Given the description of an element on the screen output the (x, y) to click on. 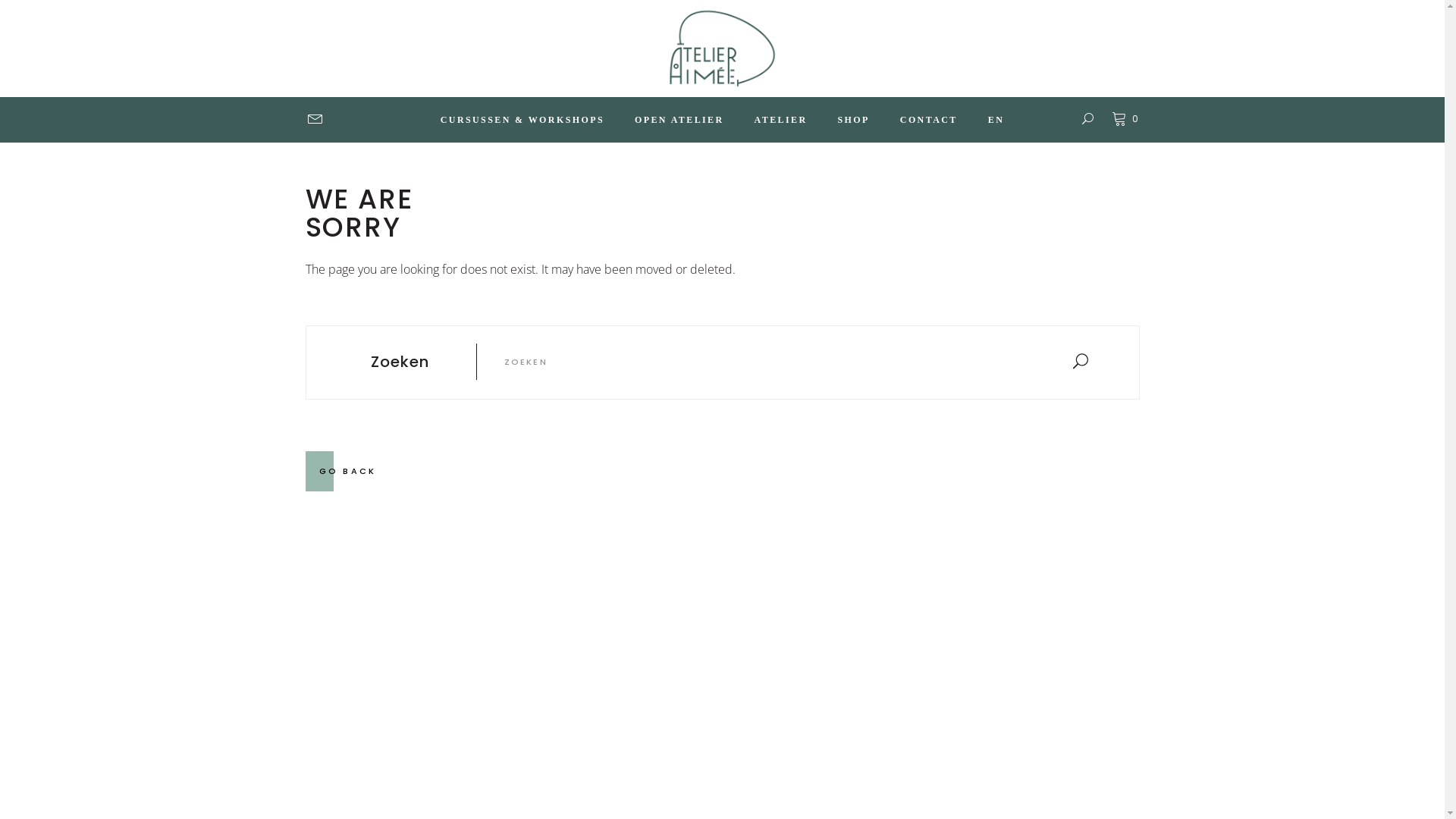
SHOP Element type: text (853, 119)
CONTACT Element type: text (928, 119)
GO BACK Element type: text (346, 470)
Search for: Element type: hover (771, 360)
CURSUSSEN & WORKSHOPS Element type: text (522, 119)
OPEN ATELIER Element type: text (679, 119)
0 Element type: text (1125, 119)
EN Element type: text (995, 119)
ATELIER Element type: text (780, 119)
Verzenden Element type: text (686, 496)
